Given the description of an element on the screen output the (x, y) to click on. 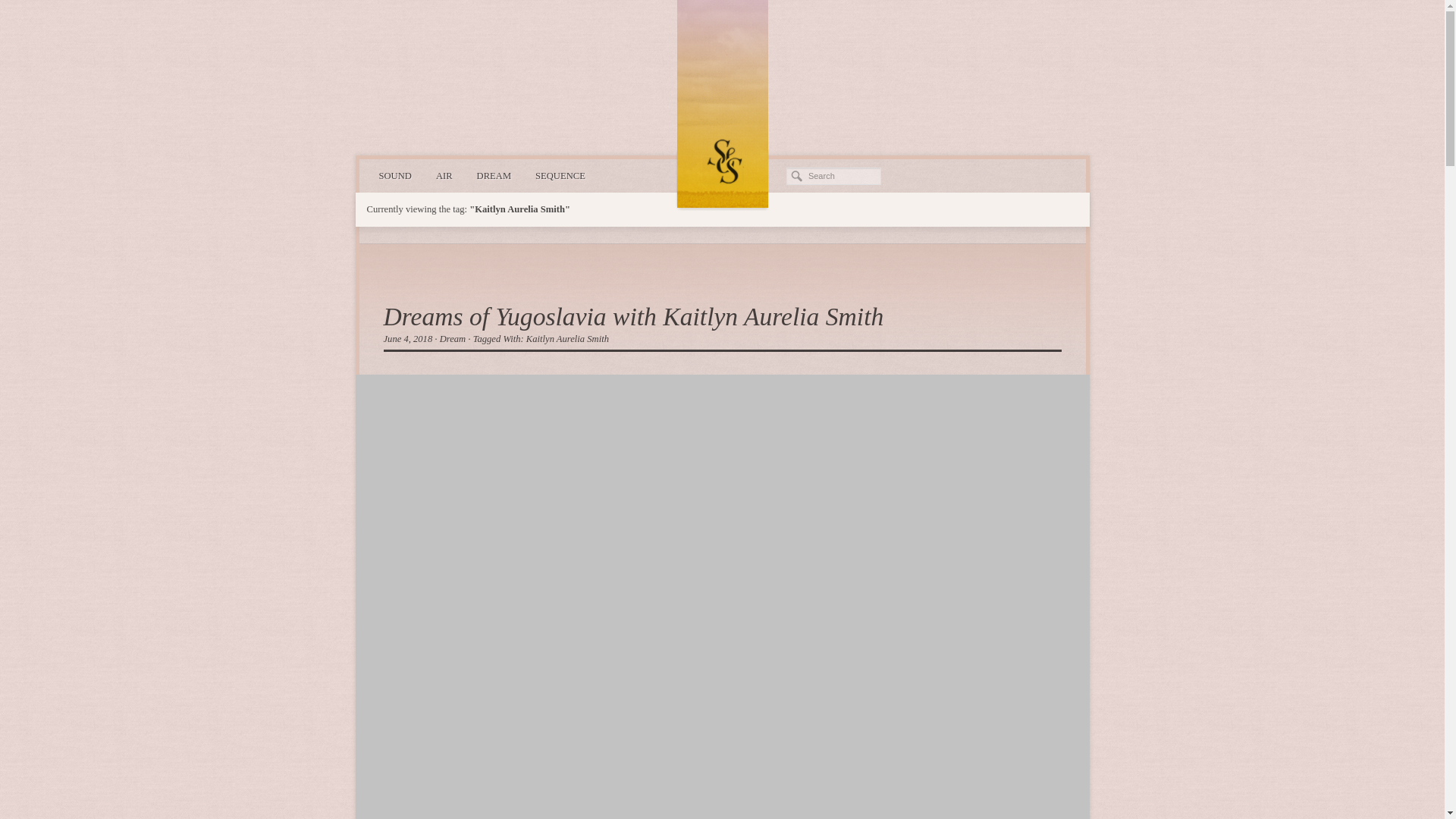
SOUND (394, 175)
Dream (452, 338)
SEQUENCE (559, 175)
AIR (443, 175)
Kaitlyn Aurelia Smith (566, 338)
Dreams of Yugoslavia with Kaitlyn Aurelia Smith (633, 316)
Dreams of Yugoslavia with Kaitlyn Aurelia Smith (633, 316)
DREAM (493, 175)
